Given the description of an element on the screen output the (x, y) to click on. 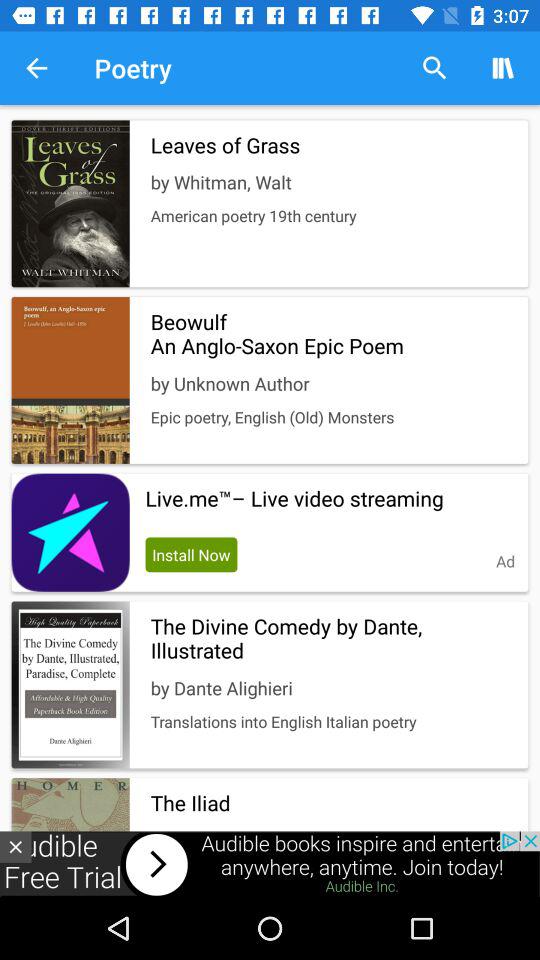
visit advertiser (270, 864)
